Given the description of an element on the screen output the (x, y) to click on. 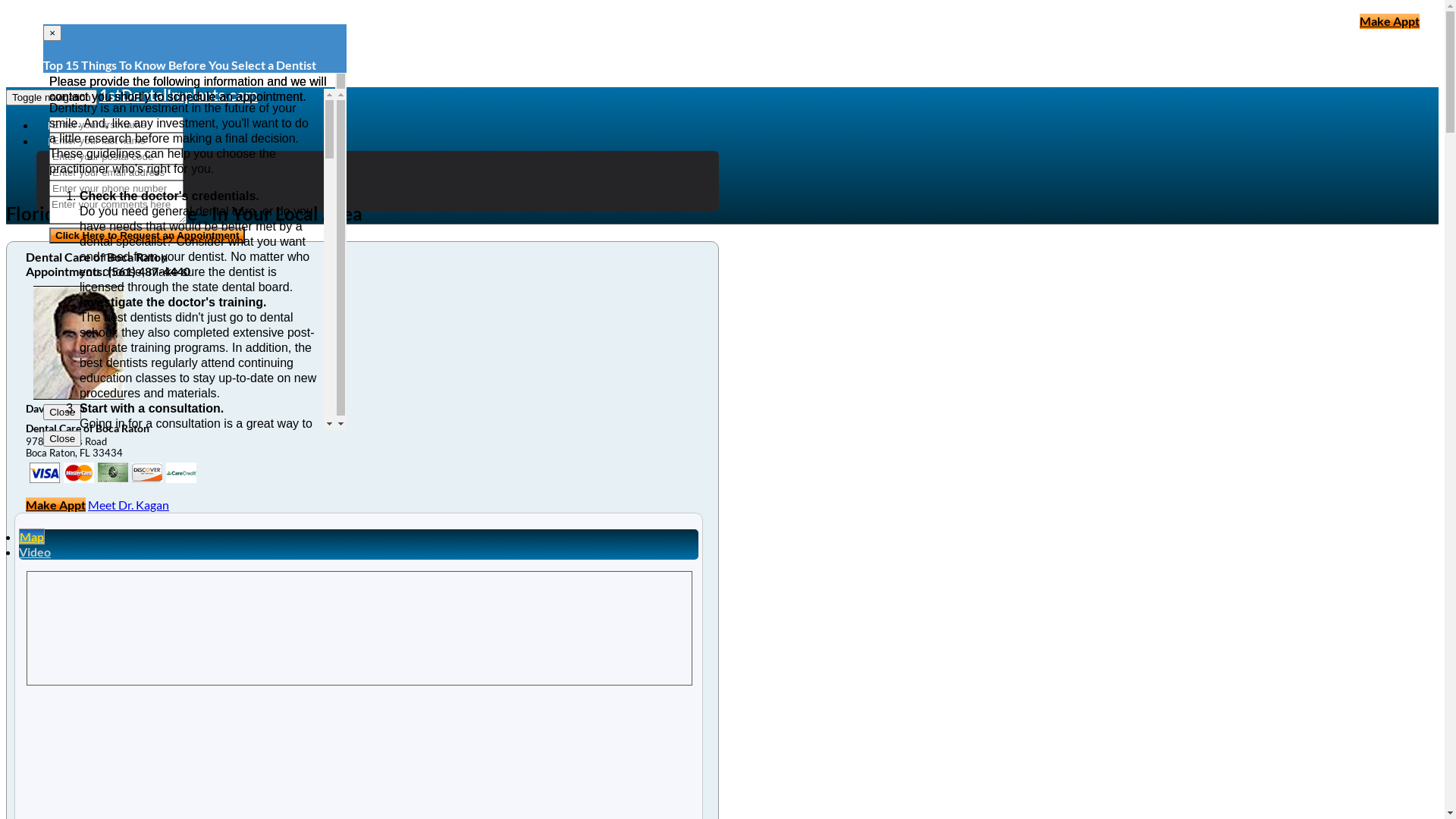
my title Element type: hover (78, 472)
Tooth Implants Element type: text (105, 157)
Dental Implants Articles Element type: text (101, 141)
my title Element type: hover (44, 472)
Implant Dentist Element type: text (107, 203)
1stDentalImplants.com Element type: text (178, 94)
About Implants Element type: text (107, 173)
Meet Dr. Kagan Element type: text (128, 504)
Close Element type: text (62, 438)
Mini Implants Element type: text (102, 188)
my title Element type: hover (112, 472)
Toggle navigation Element type: text (51, 97)
Close Element type: text (62, 412)
Video Element type: text (34, 551)
Map Element type: text (31, 536)
my title Element type: hover (181, 472)
my title Element type: hover (146, 472)
Home Element type: text (60, 125)
Make Appt Element type: text (1389, 20)
Make Appt Element type: text (55, 504)
